Given the description of an element on the screen output the (x, y) to click on. 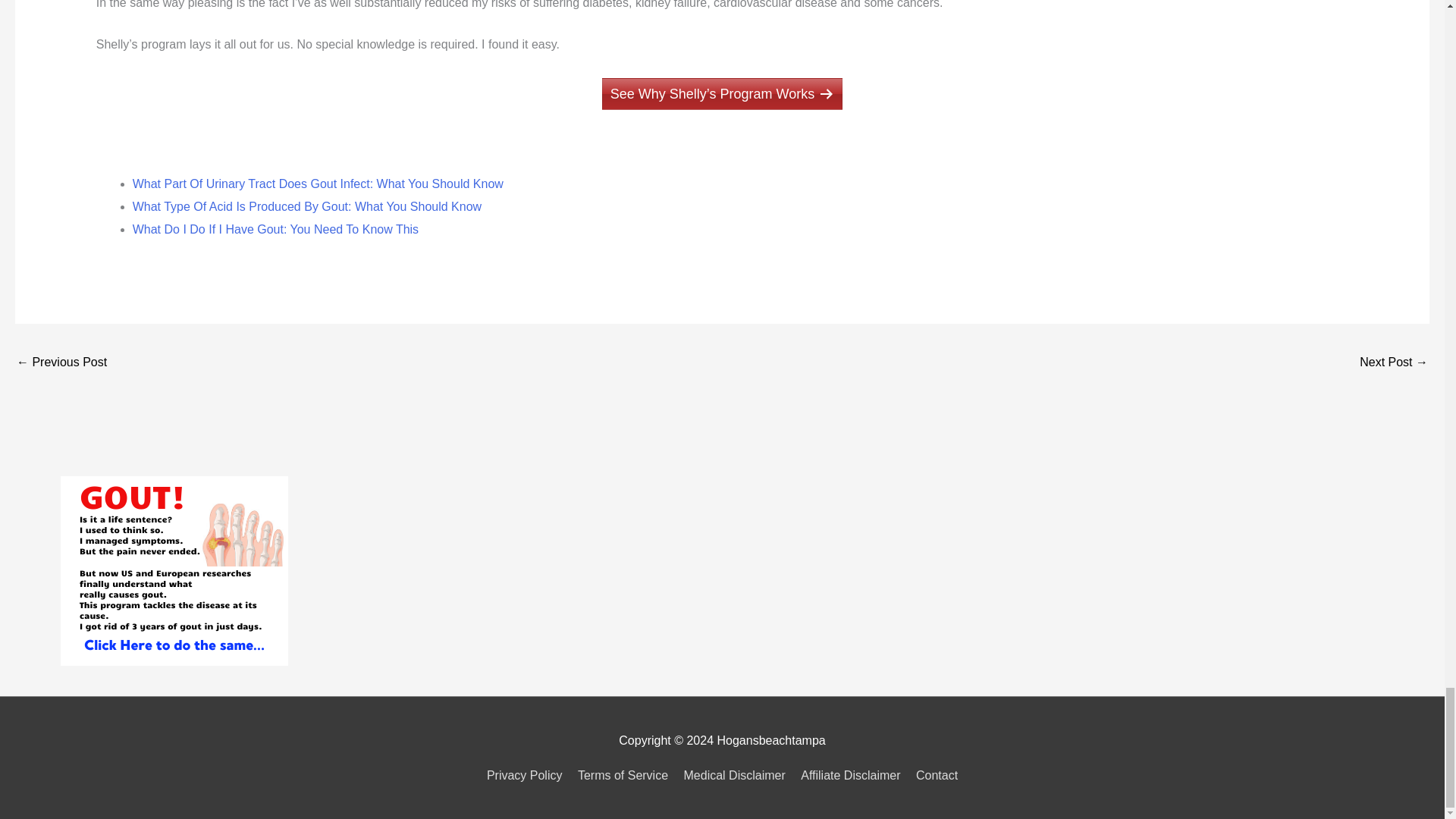
Affiliate Disclaimer (849, 775)
Medical Disclaimer (735, 775)
Privacy Policy (527, 775)
Terms of Service (623, 775)
What Are Meats You Can Eat With Gout: What You Should Know (61, 363)
What Do I Do If I Have Gout: You Need To Know This (275, 228)
What Type Of Acid Is Produced By Gout: What You Should Know (306, 205)
Contact (934, 775)
